Given the description of an element on the screen output the (x, y) to click on. 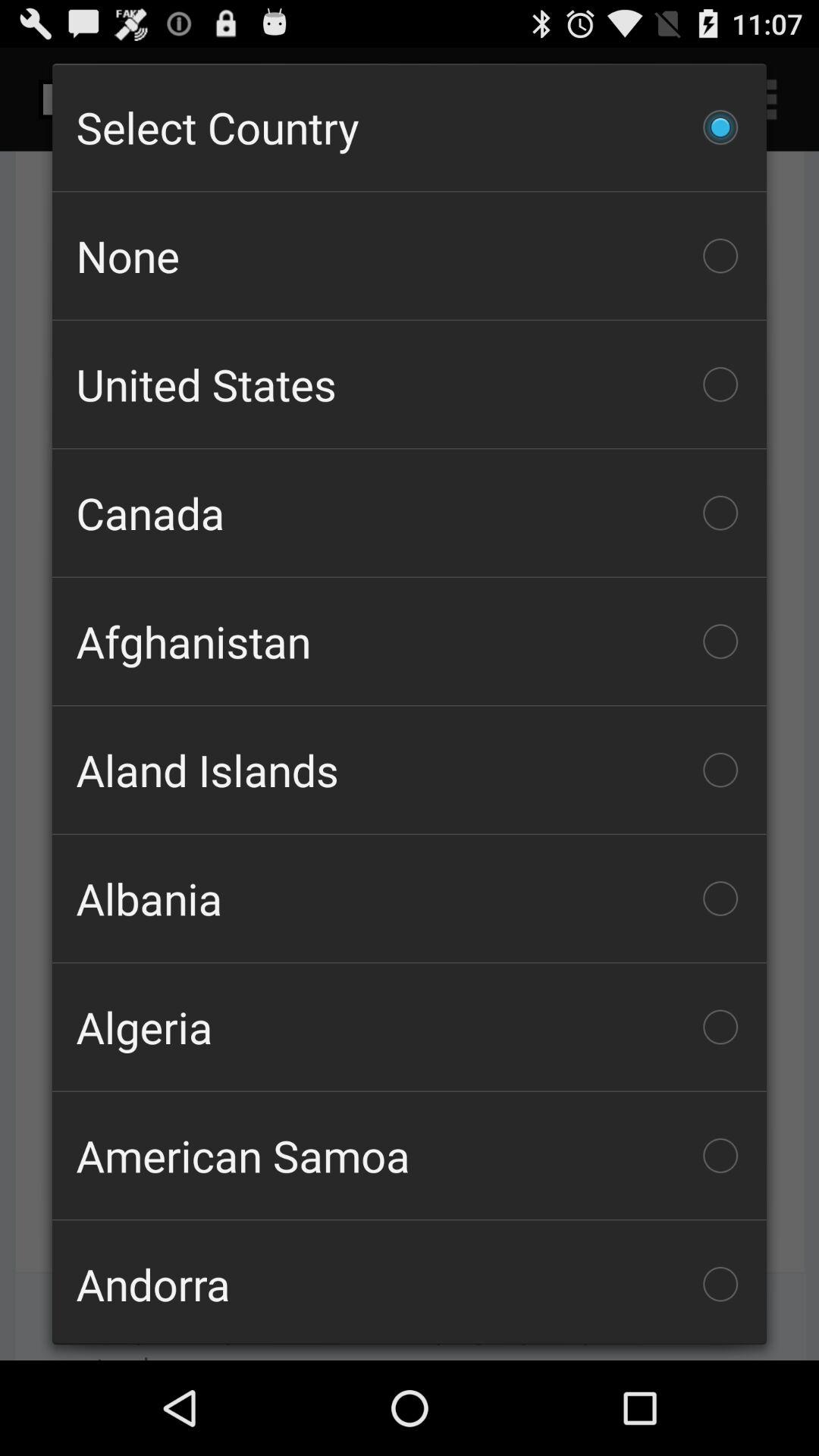
launch american samoa checkbox (409, 1155)
